Given the description of an element on the screen output the (x, y) to click on. 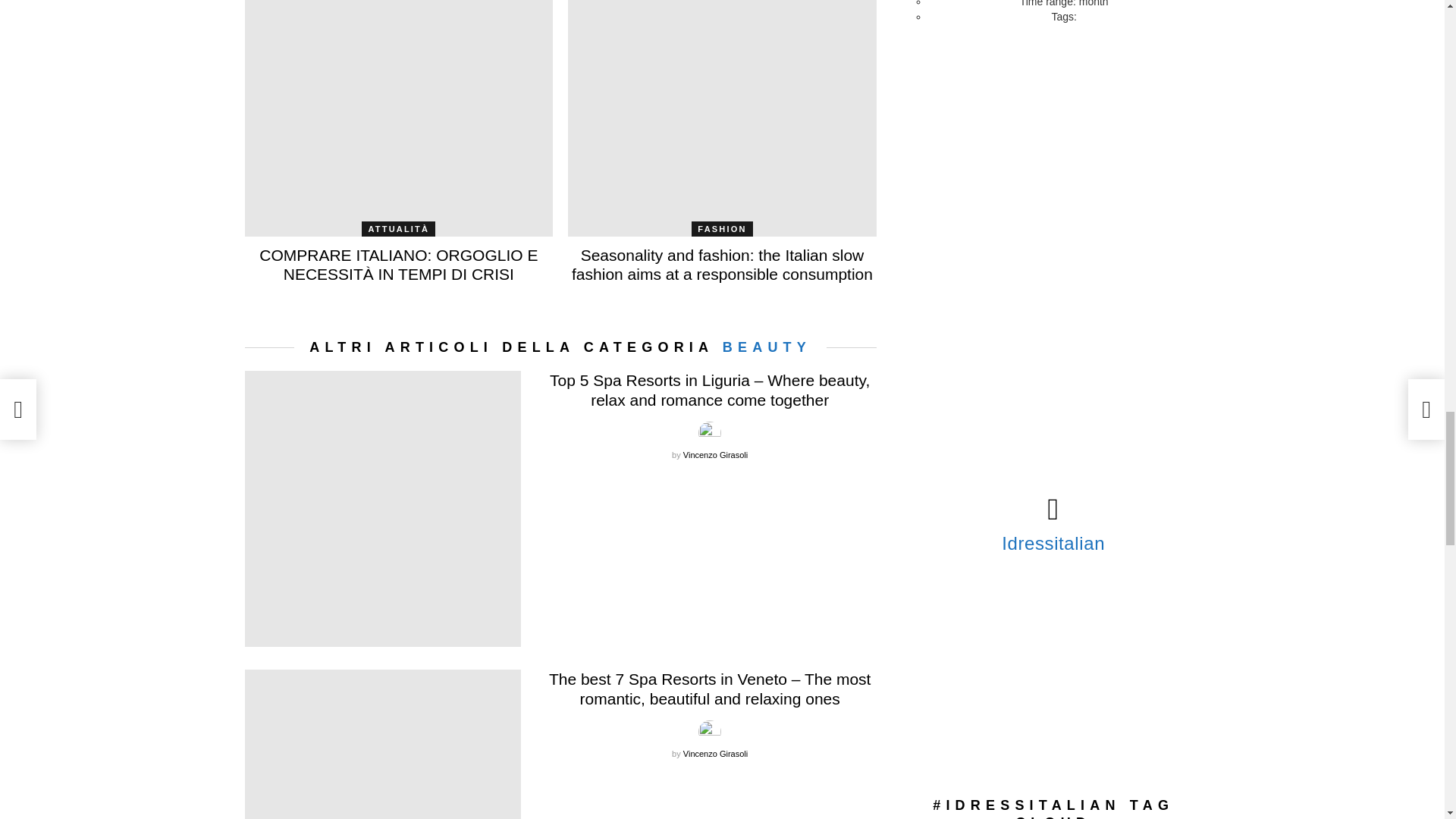
Posts by Vincenzo Girasoli (715, 454)
Posts by Vincenzo Girasoli (715, 753)
